Given the description of an element on the screen output the (x, y) to click on. 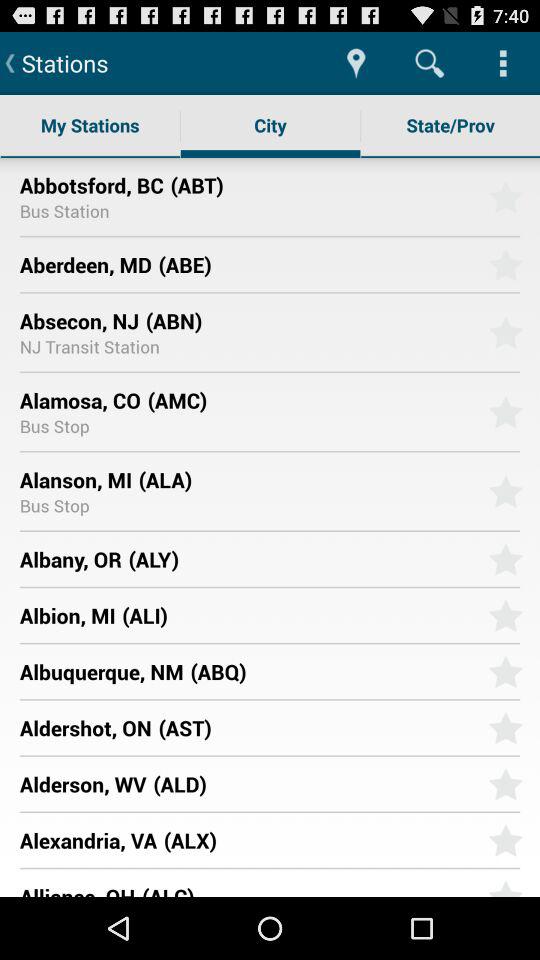
open bus station (64, 210)
